Given the description of an element on the screen output the (x, y) to click on. 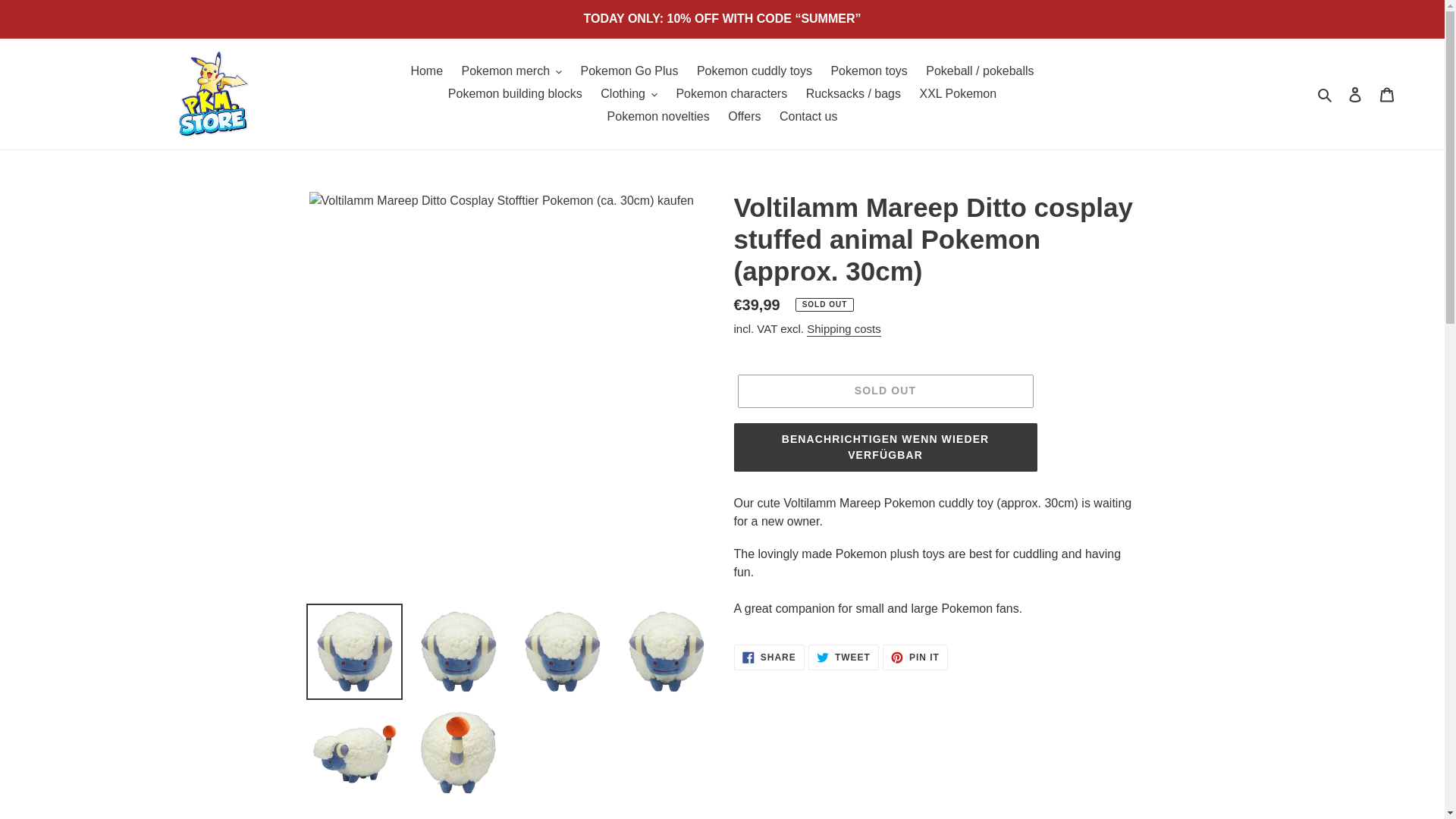
Pokemon Go Plus (629, 70)
XXL Pokemon (957, 93)
Clothing (628, 93)
Pokemon novelties (658, 116)
Pokemon cuddly toys (753, 70)
Home (426, 70)
Pokemon merch (512, 70)
Pokemon toys (868, 70)
Pokemon characters (731, 93)
Pokemon building blocks (515, 93)
